Given the description of an element on the screen output the (x, y) to click on. 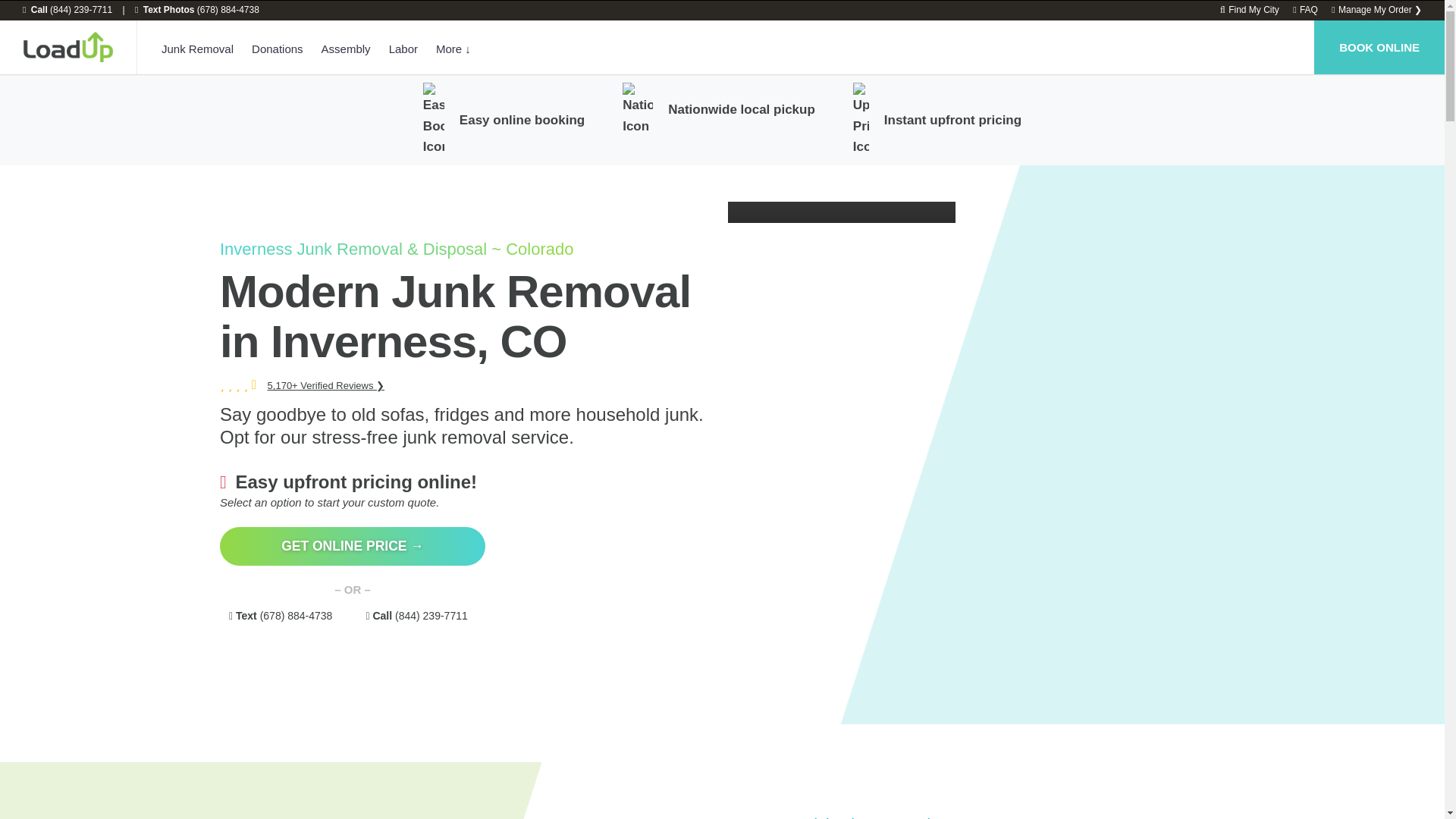
Call LoadUp (67, 9)
Text LoadUp (197, 9)
Knowledge Base (1304, 9)
Find My City (1249, 9)
View LoadUp Customer Reviews (325, 385)
Tracking My Order (1377, 9)
